Given the description of an element on the screen output the (x, y) to click on. 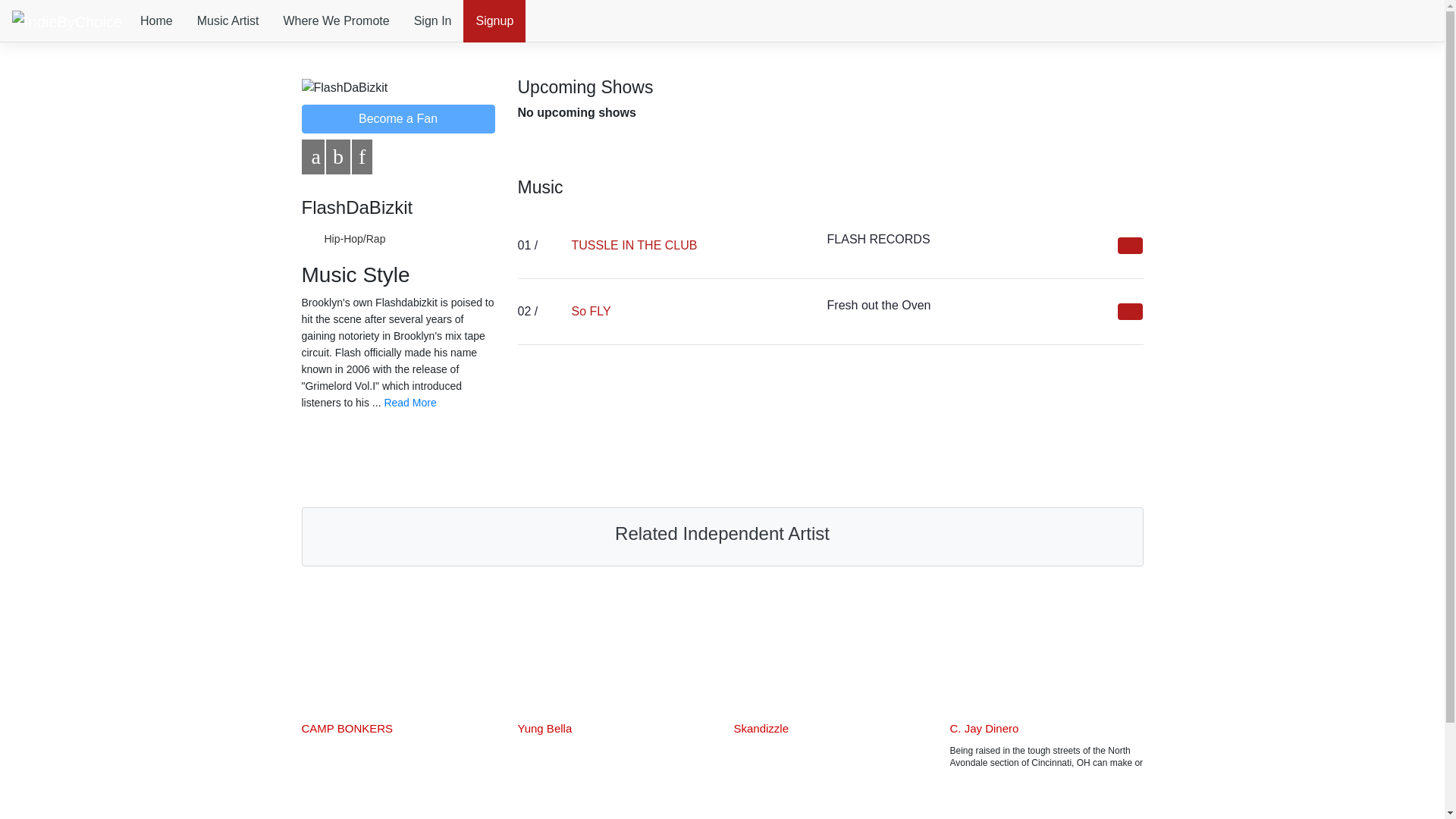
check out music from Skandizzle (830, 645)
Become a Fan (398, 118)
check out music from CAMP BONKERS (398, 645)
check out music from Skandizzle (761, 727)
check out music from C. Jay Dinero (326, 21)
check out music from CAMP BONKERS (1045, 645)
Home (347, 727)
